Given the description of an element on the screen output the (x, y) to click on. 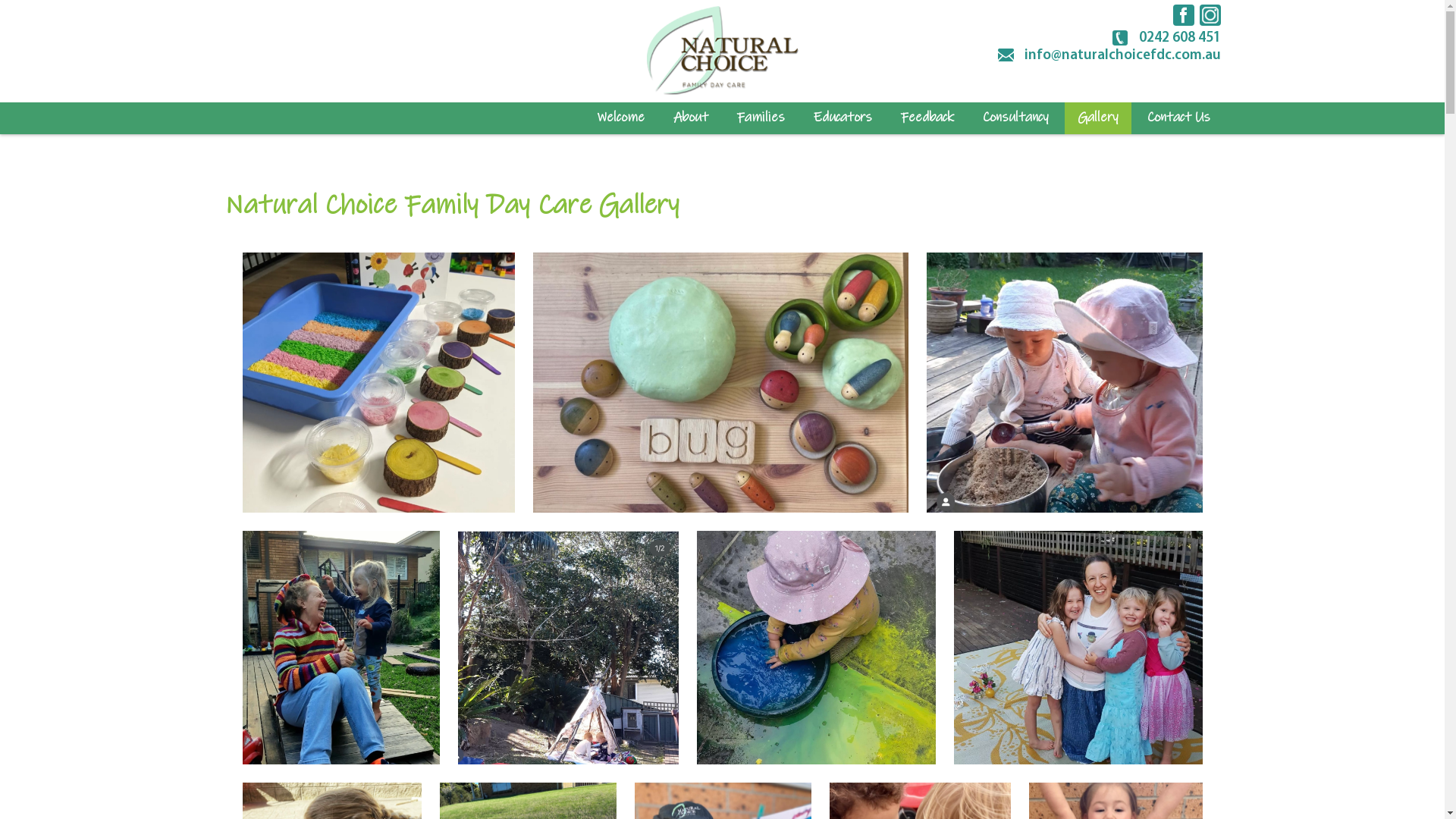
Gallery Element type: text (1096, 118)
Educators Element type: text (841, 118)
Welcome Element type: text (619, 118)
Families Element type: text (760, 118)
Consultancy Element type: text (1015, 118)
0242 608 451 Element type: text (1165, 37)
info@naturalchoicefdc.com.au Element type: text (1108, 54)
About Element type: text (690, 118)
Contact Us Element type: text (1177, 118)
Feedback Element type: text (926, 118)
